Given the description of an element on the screen output the (x, y) to click on. 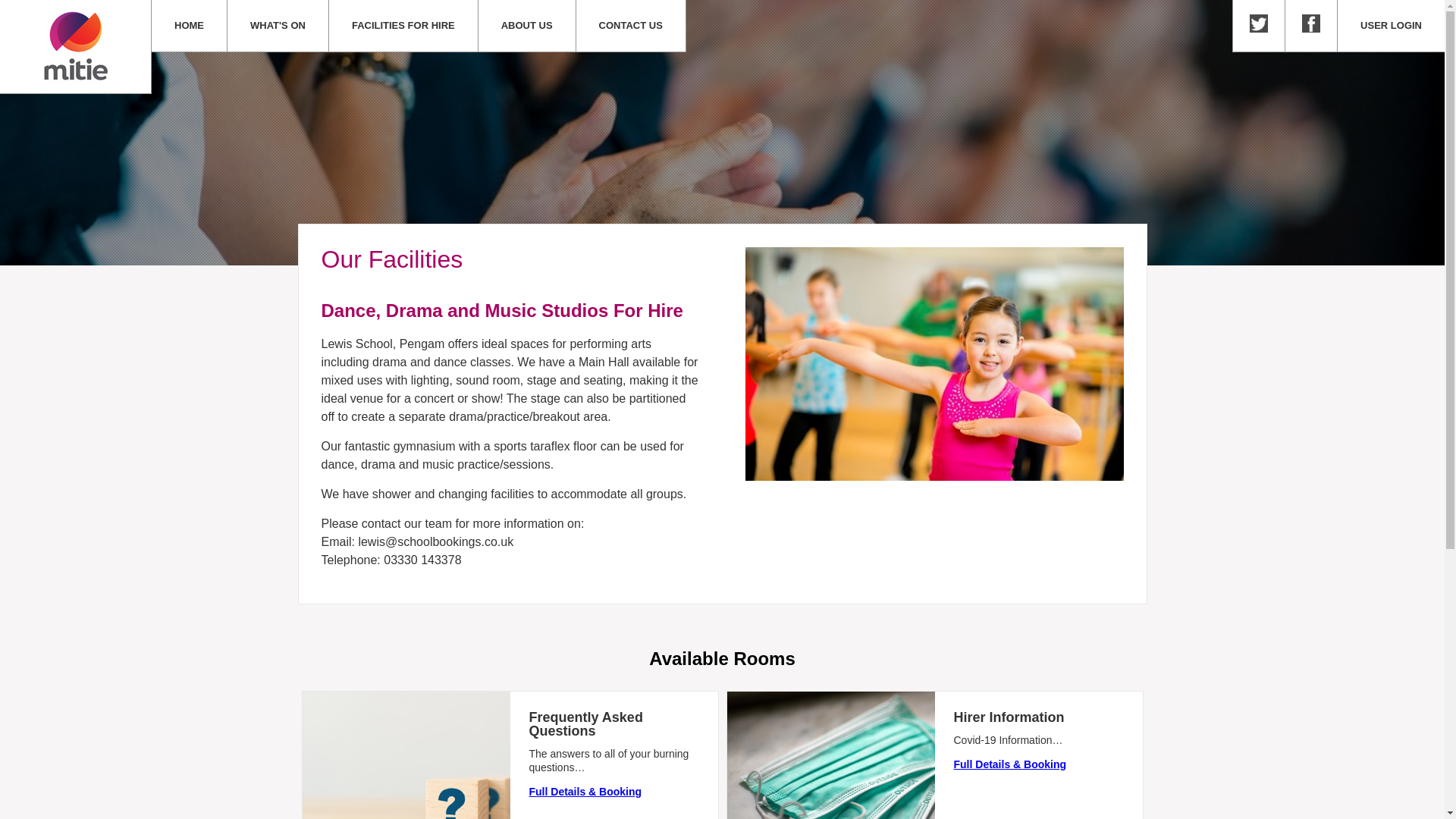
Home (189, 25)
Our Facebook Page (1310, 25)
ABOUT US (527, 25)
FACILITIES FOR HIRE (403, 25)
Contact Us (630, 25)
Our Twitter Account (1258, 25)
Facilities For Hire  (403, 25)
HOME (189, 25)
CONTACT US (630, 25)
What's On (278, 25)
